Given the description of an element on the screen output the (x, y) to click on. 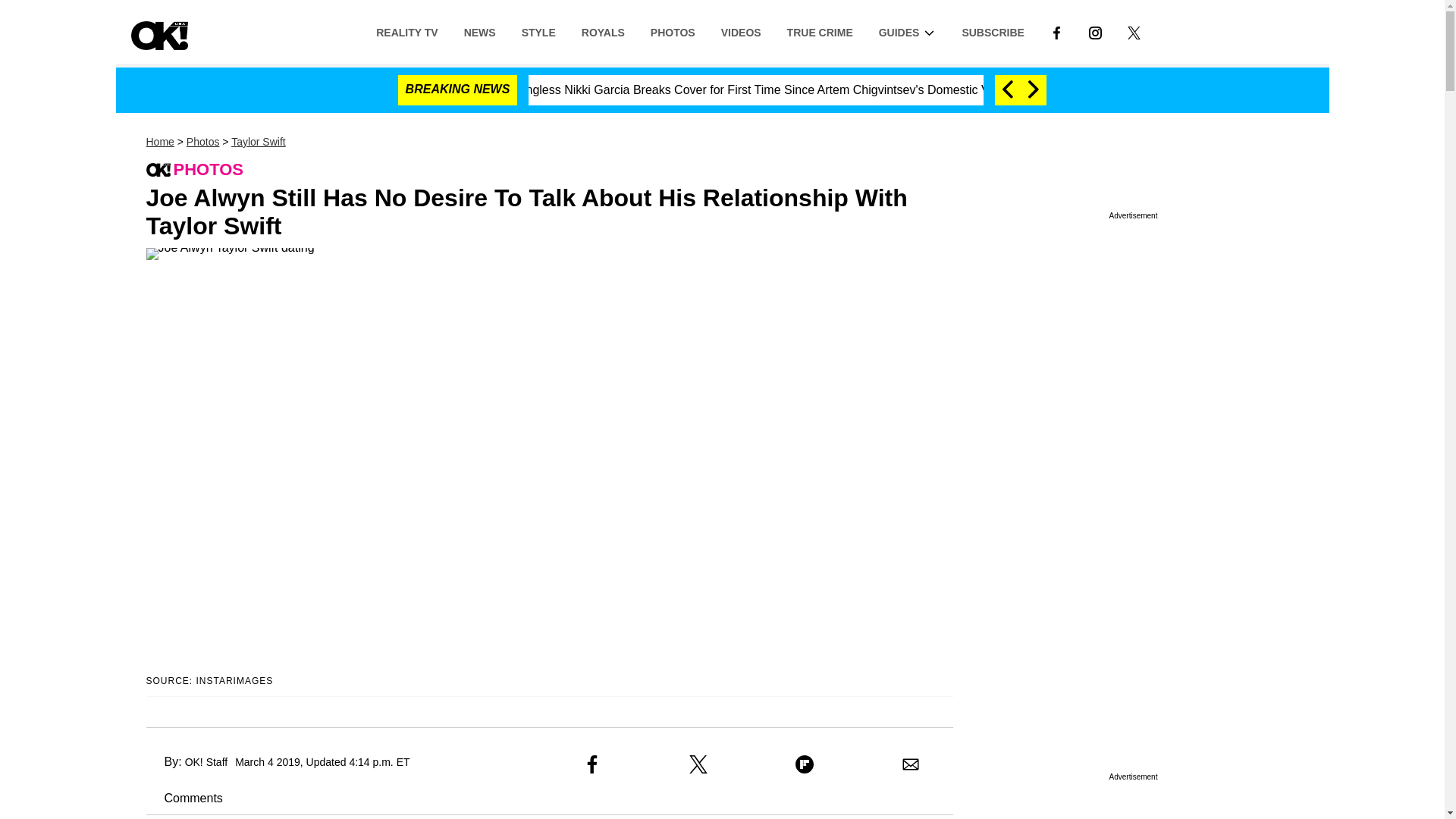
Share to Facebook (590, 764)
LINK TO X (1134, 31)
PHOTOS (672, 31)
NEWS (479, 31)
LINK TO INSTAGRAM (1095, 31)
REALITY TV (405, 31)
Taylor Swift (258, 141)
LINK TO INSTAGRAM (1095, 32)
Link to Facebook (1055, 31)
